Given the description of an element on the screen output the (x, y) to click on. 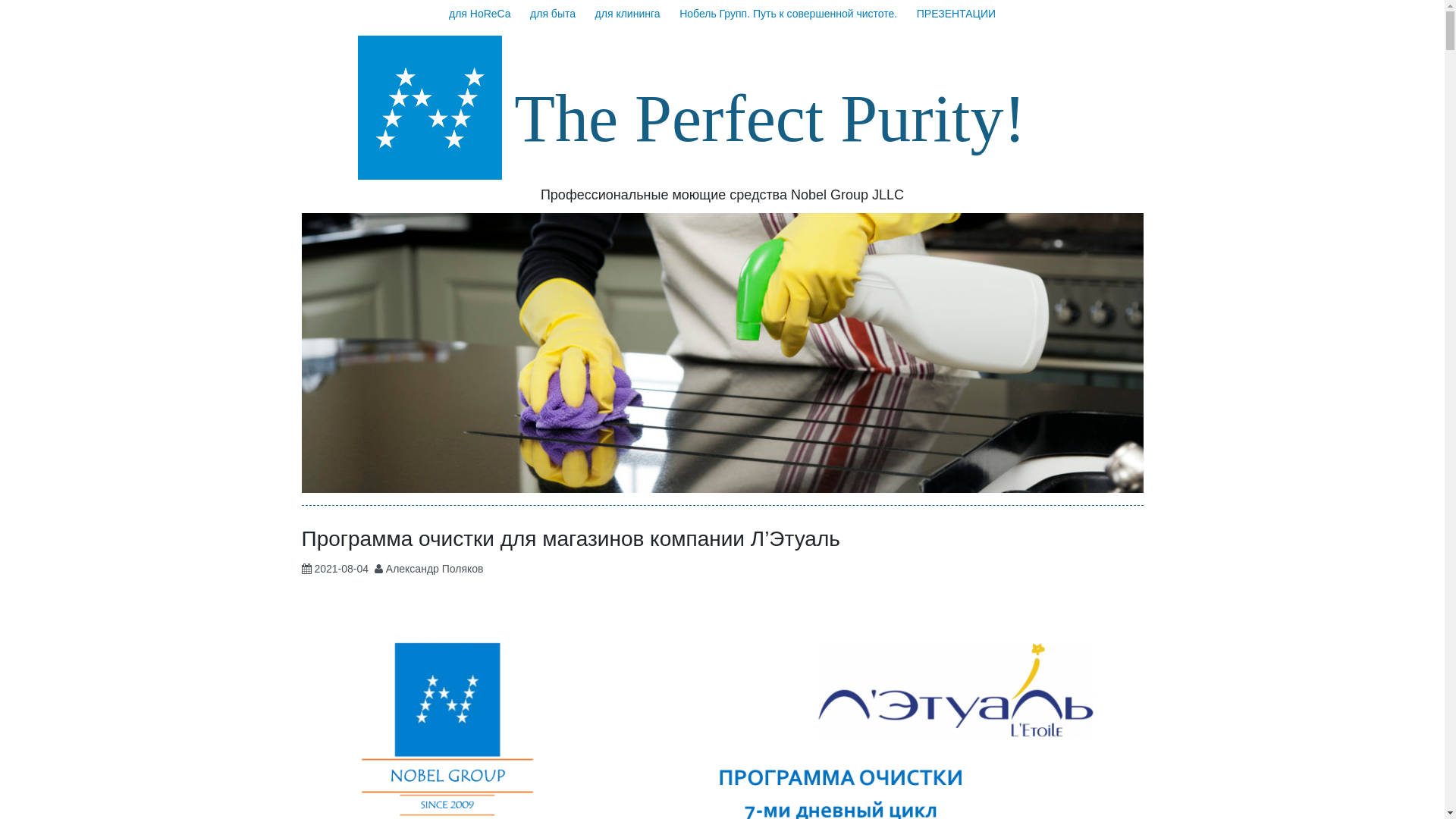
The Perfect Purity! Element type: text (769, 118)
2021-08-04 Element type: text (340, 568)
